Given the description of an element on the screen output the (x, y) to click on. 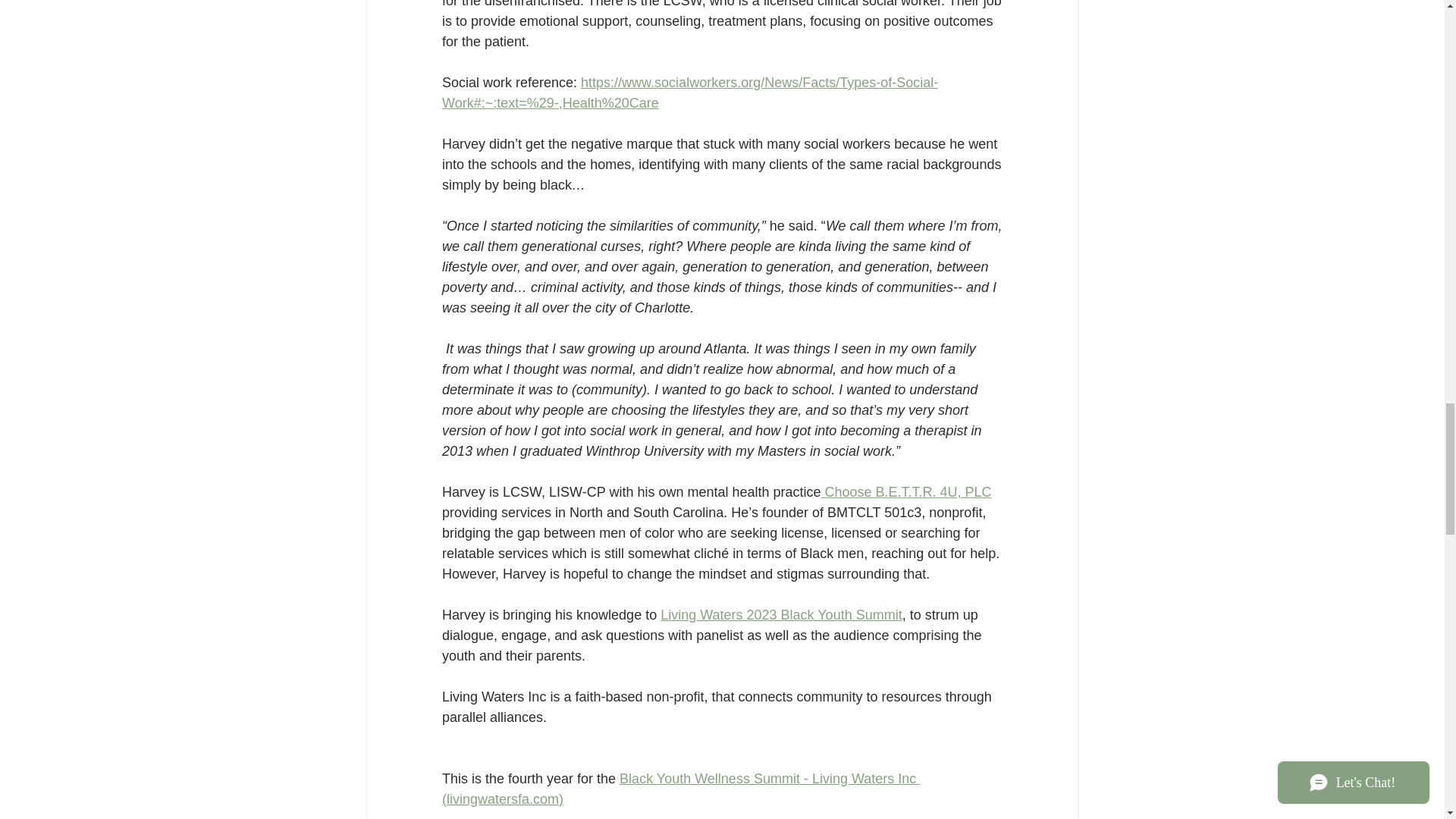
livingwatersfa.com (501, 798)
Living Waters 2023 Black Youth Summit (781, 614)
 Choose B.E.T.T.R. 4U, PLC (906, 491)
